Given the description of an element on the screen output the (x, y) to click on. 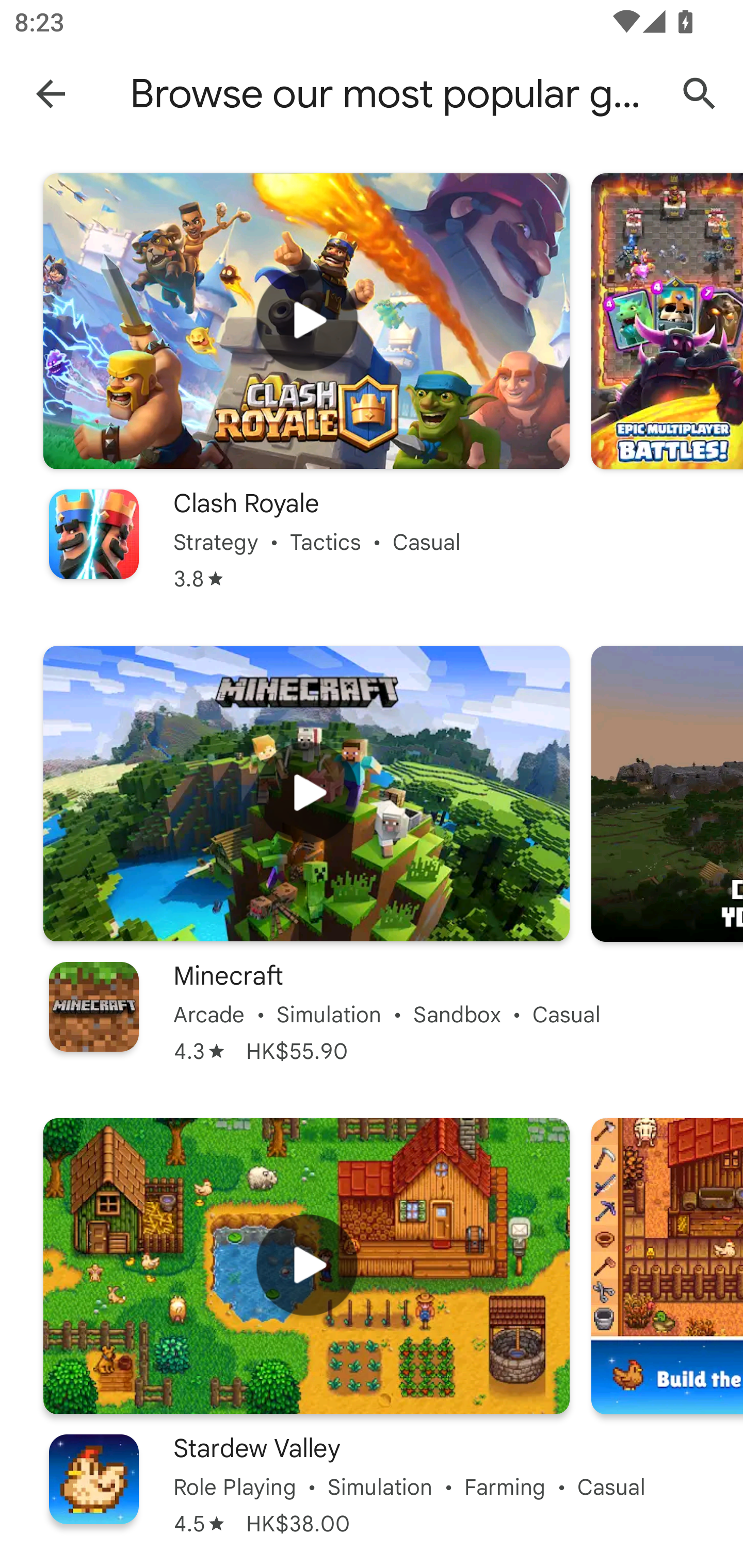
Navigate up (50, 92)
Search Google Play (699, 93)
Play trailer for "Clash Royale" (306, 321)
Play trailer for "Minecraft" (306, 793)
Play trailer for "Stardew Valley" (306, 1265)
